Given the description of an element on the screen output the (x, y) to click on. 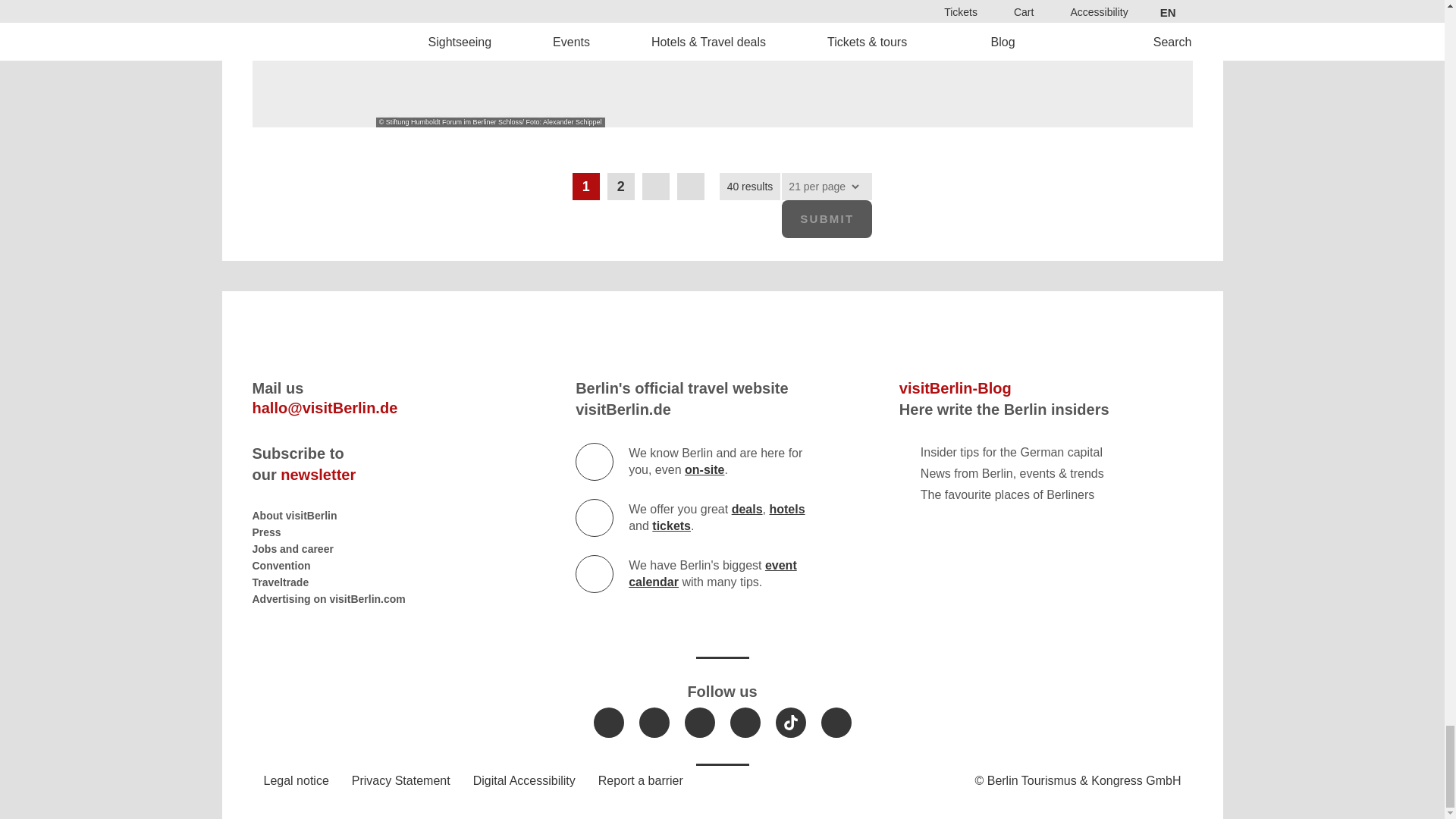
Submit (826, 218)
